Given the description of an element on the screen output the (x, y) to click on. 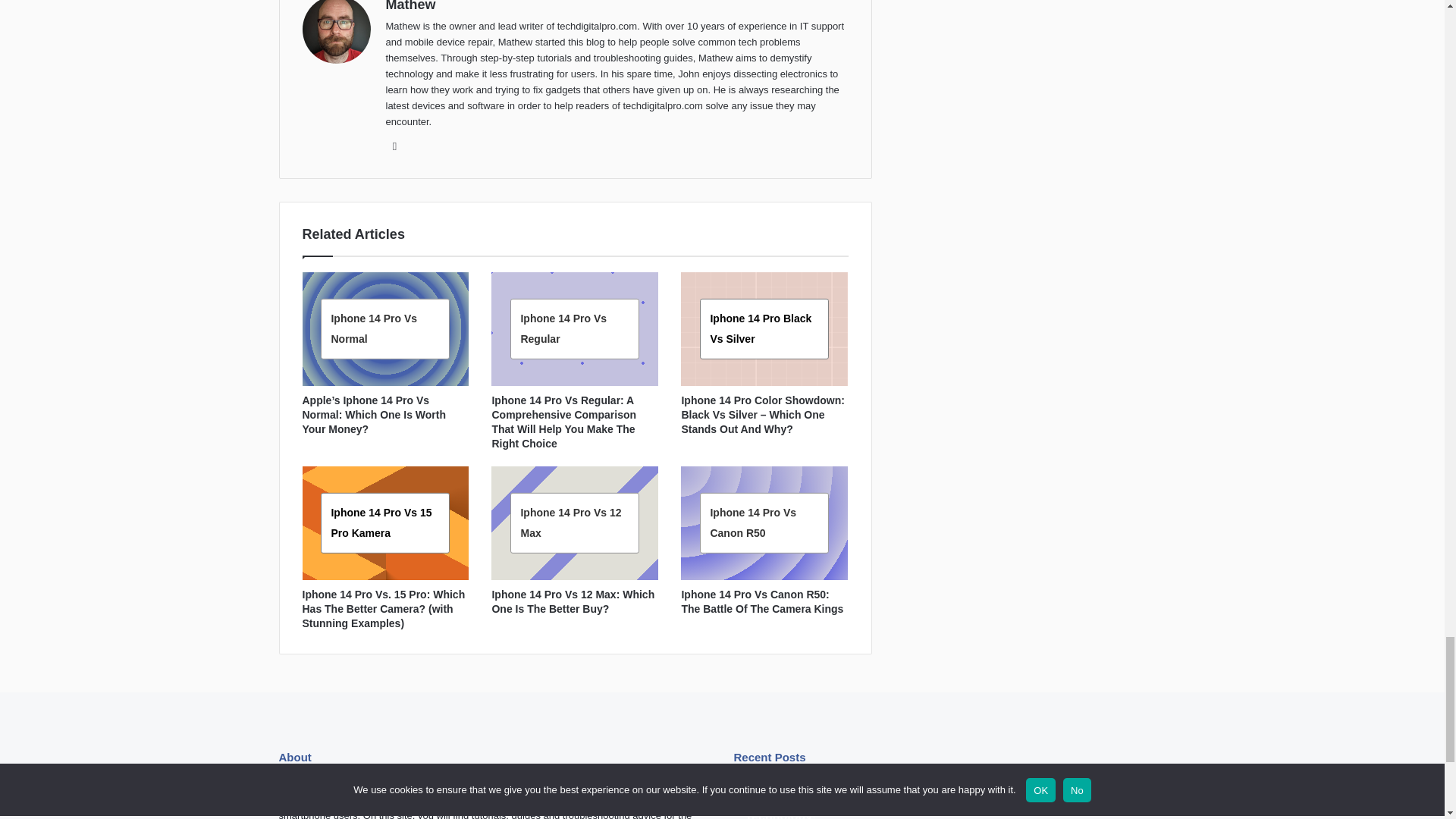
Mathew (410, 6)
Iphone 14 Pro Vs Regular (563, 328)
Iphone 14 Pro Black Vs Silver (760, 328)
Website (394, 146)
Iphone 14 Pro Vs Normal (373, 328)
